Given the description of an element on the screen output the (x, y) to click on. 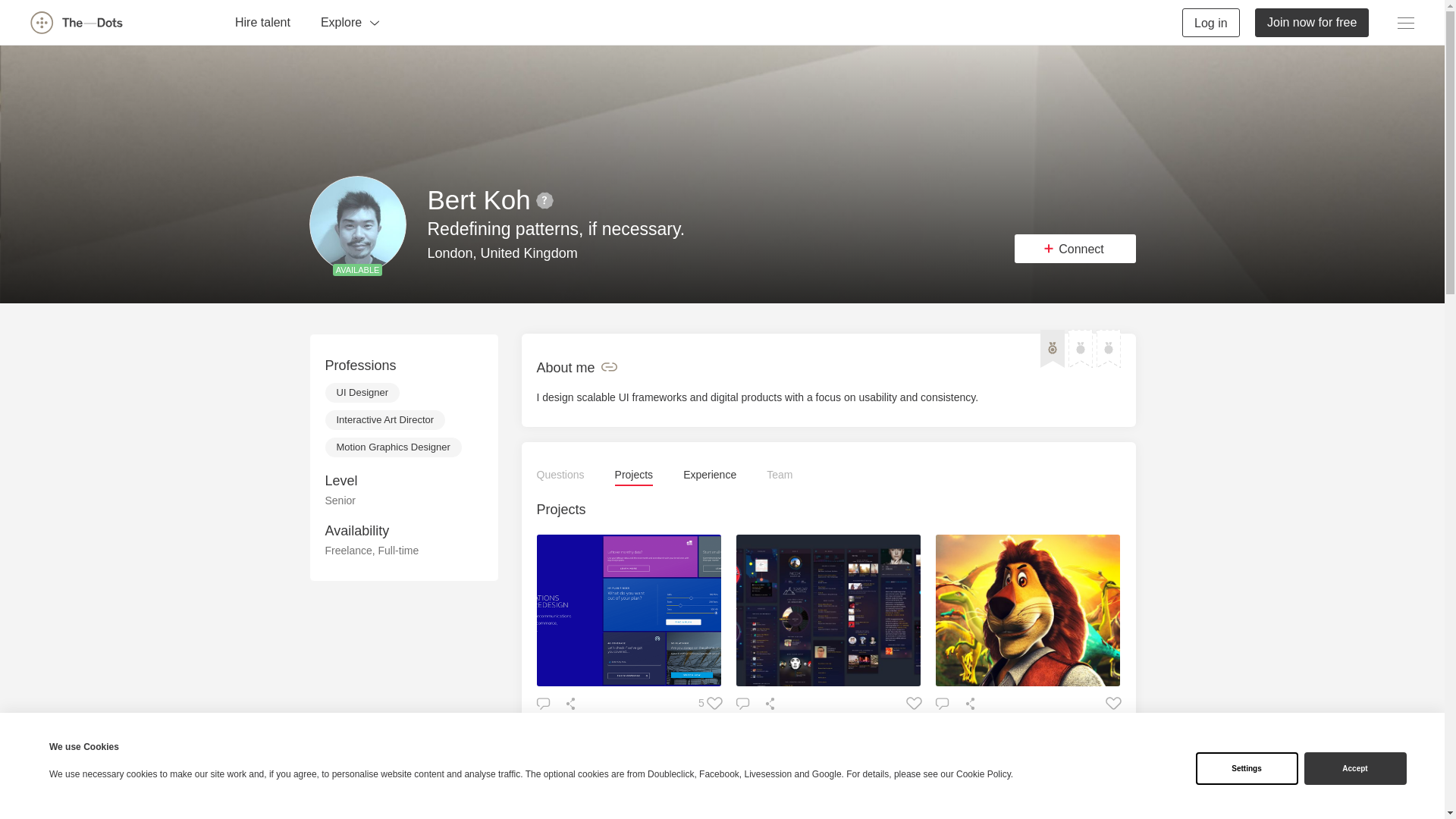
Projects (633, 475)
Hire talent (261, 21)
Join now for free (1311, 21)
Connect (1074, 248)
Experience (709, 475)
Log in (1211, 21)
Explore (350, 21)
Team (779, 475)
Questions (561, 475)
